Given the description of an element on the screen output the (x, y) to click on. 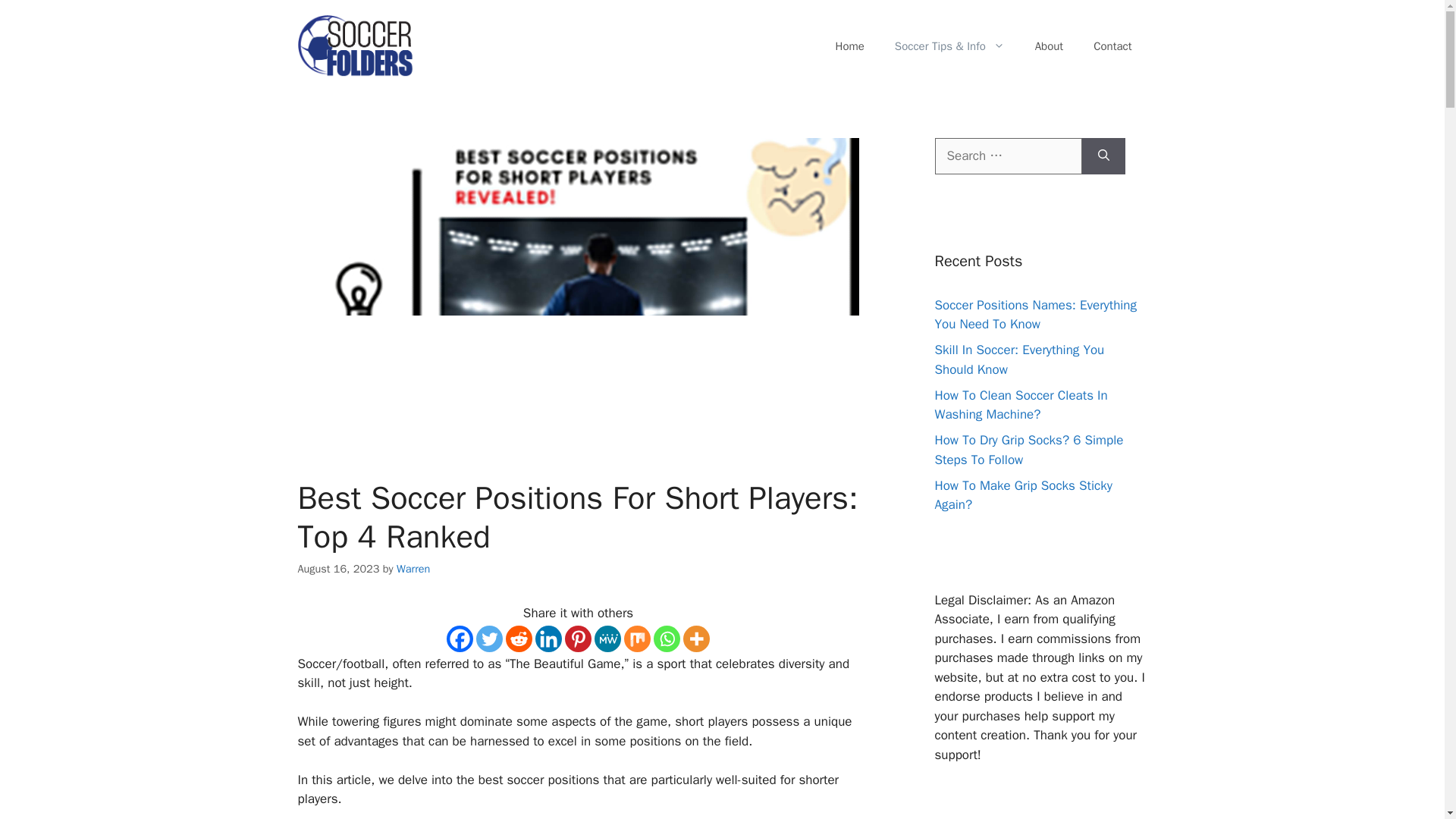
View all posts by Warren (412, 568)
Contact (1112, 45)
Home (850, 45)
Pinterest (577, 637)
Twitter (489, 637)
Reddit (518, 637)
Facebook (459, 637)
Mix (637, 637)
Linkedin (548, 637)
More (696, 637)
MeWe (607, 637)
Warren (412, 568)
About (1049, 45)
Whatsapp (666, 637)
